Given the description of an element on the screen output the (x, y) to click on. 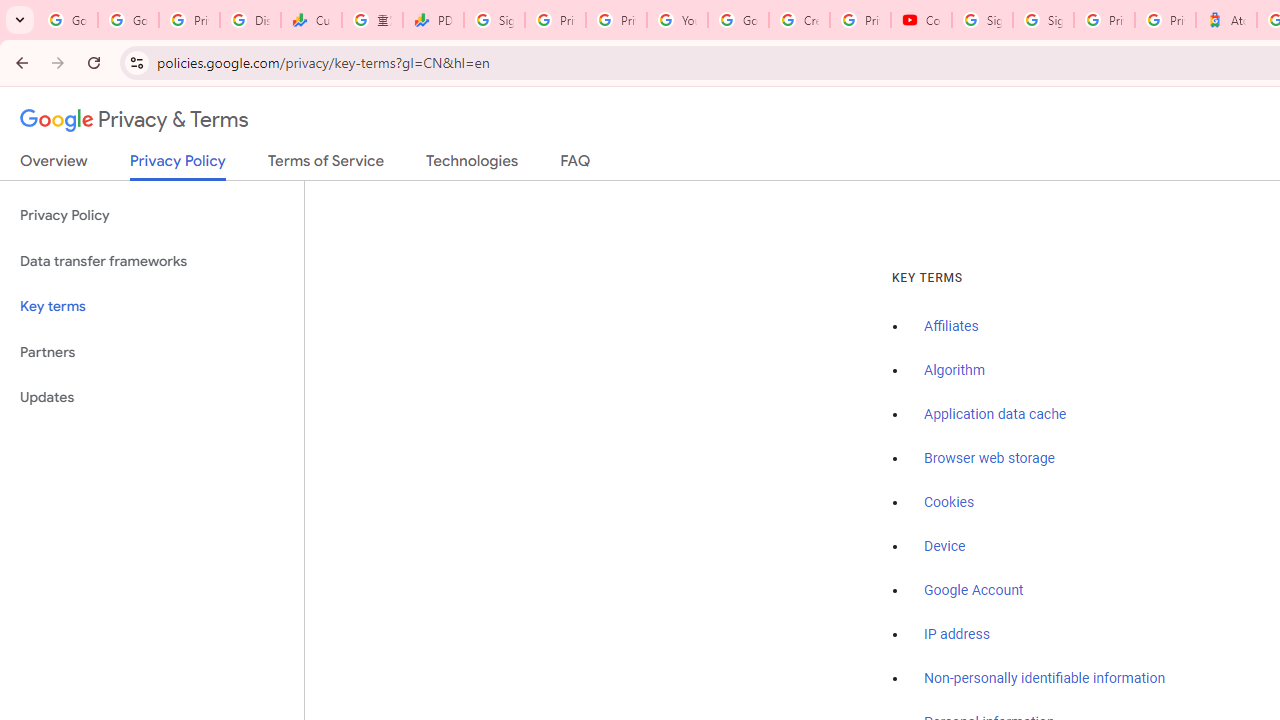
Google Account (974, 590)
Google Account Help (738, 20)
Privacy Checkup (616, 20)
Browser web storage (989, 459)
Cookies (949, 502)
Atour Hotel - Google hotels (1225, 20)
